Given the description of an element on the screen output the (x, y) to click on. 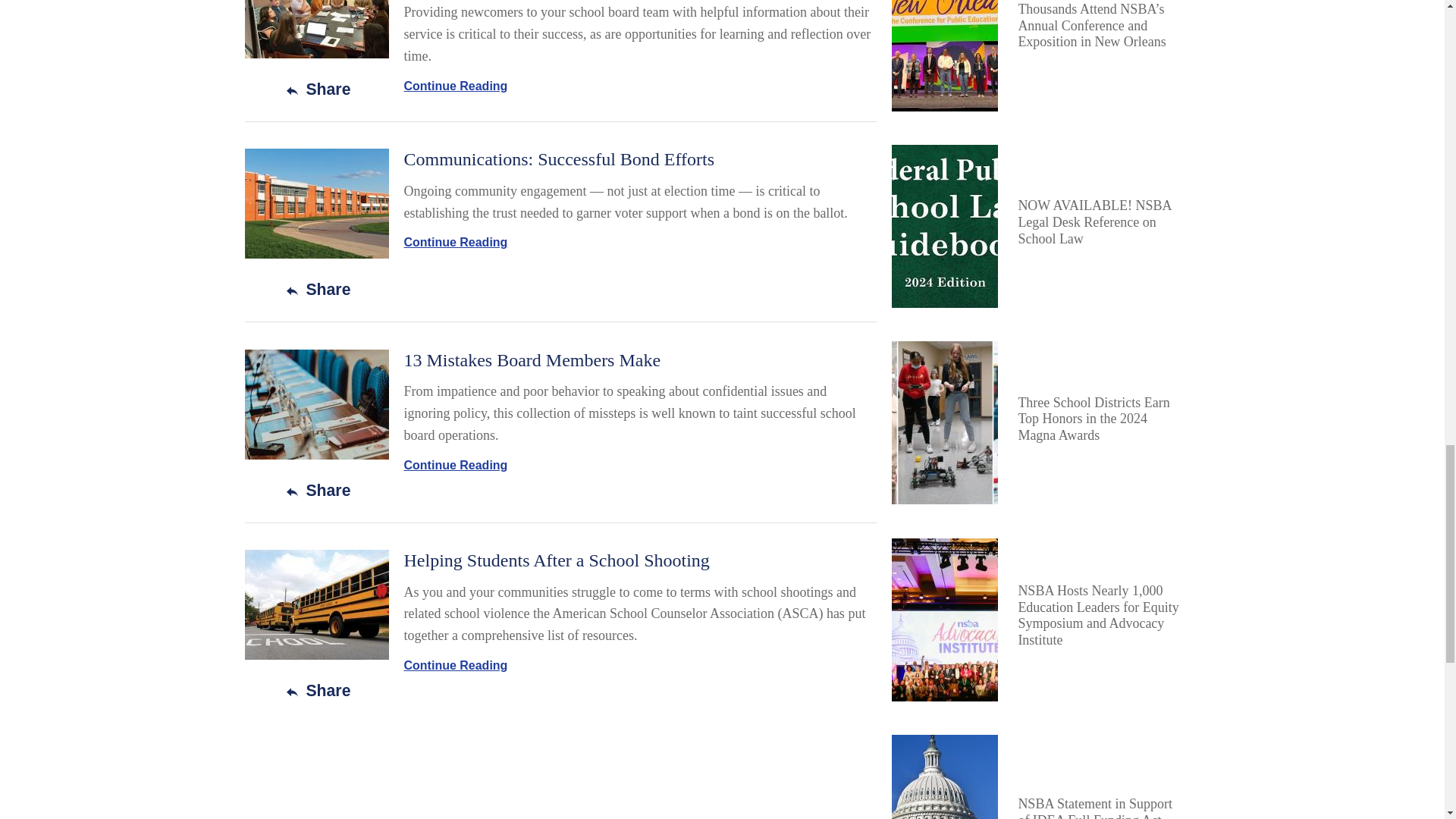
Continue Reading (454, 85)
Communications: Successful Bond Efforts (558, 158)
Share (316, 289)
Share (316, 88)
